Given the description of an element on the screen output the (x, y) to click on. 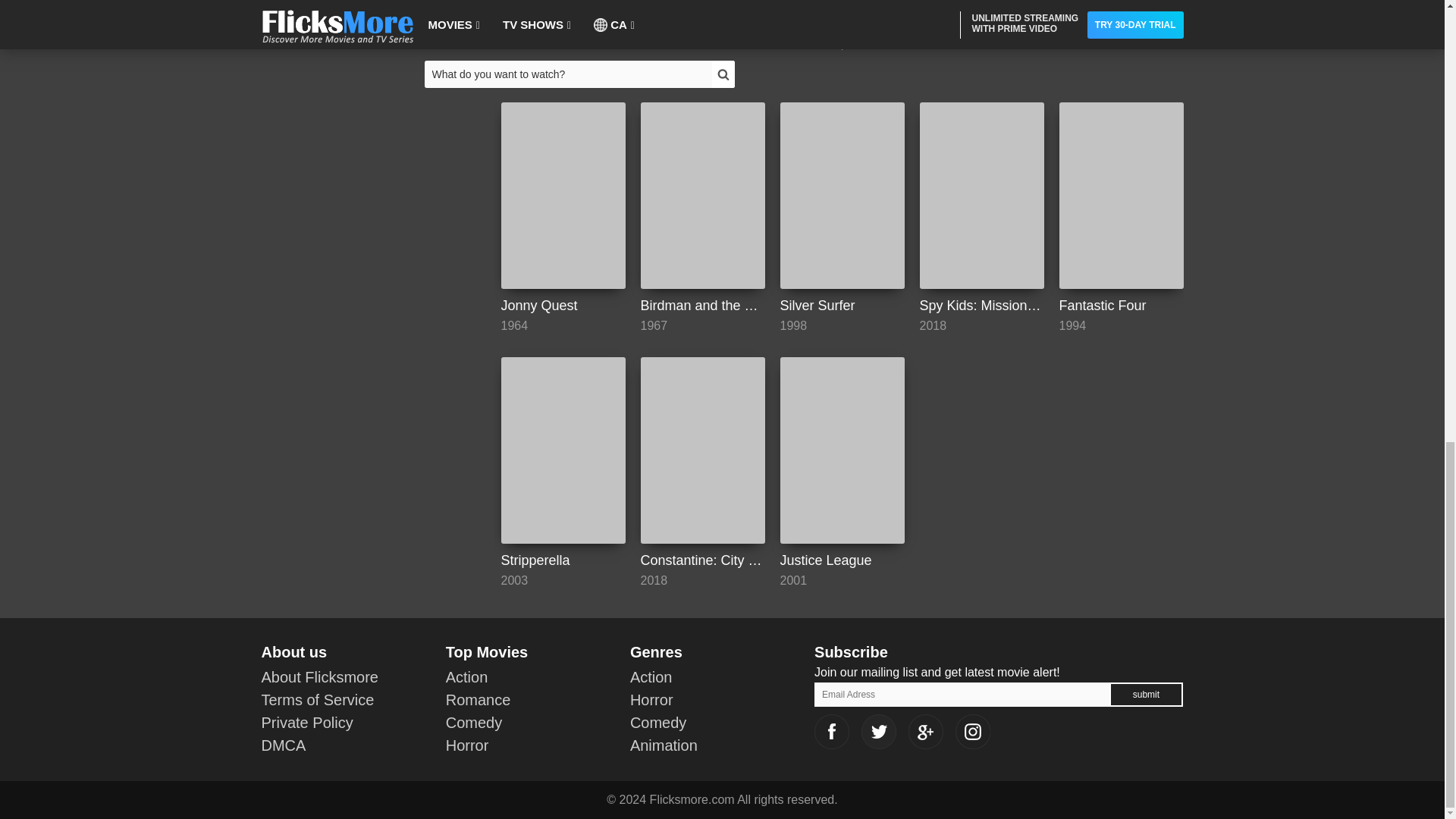
submit (1145, 694)
